Given the description of an element on the screen output the (x, y) to click on. 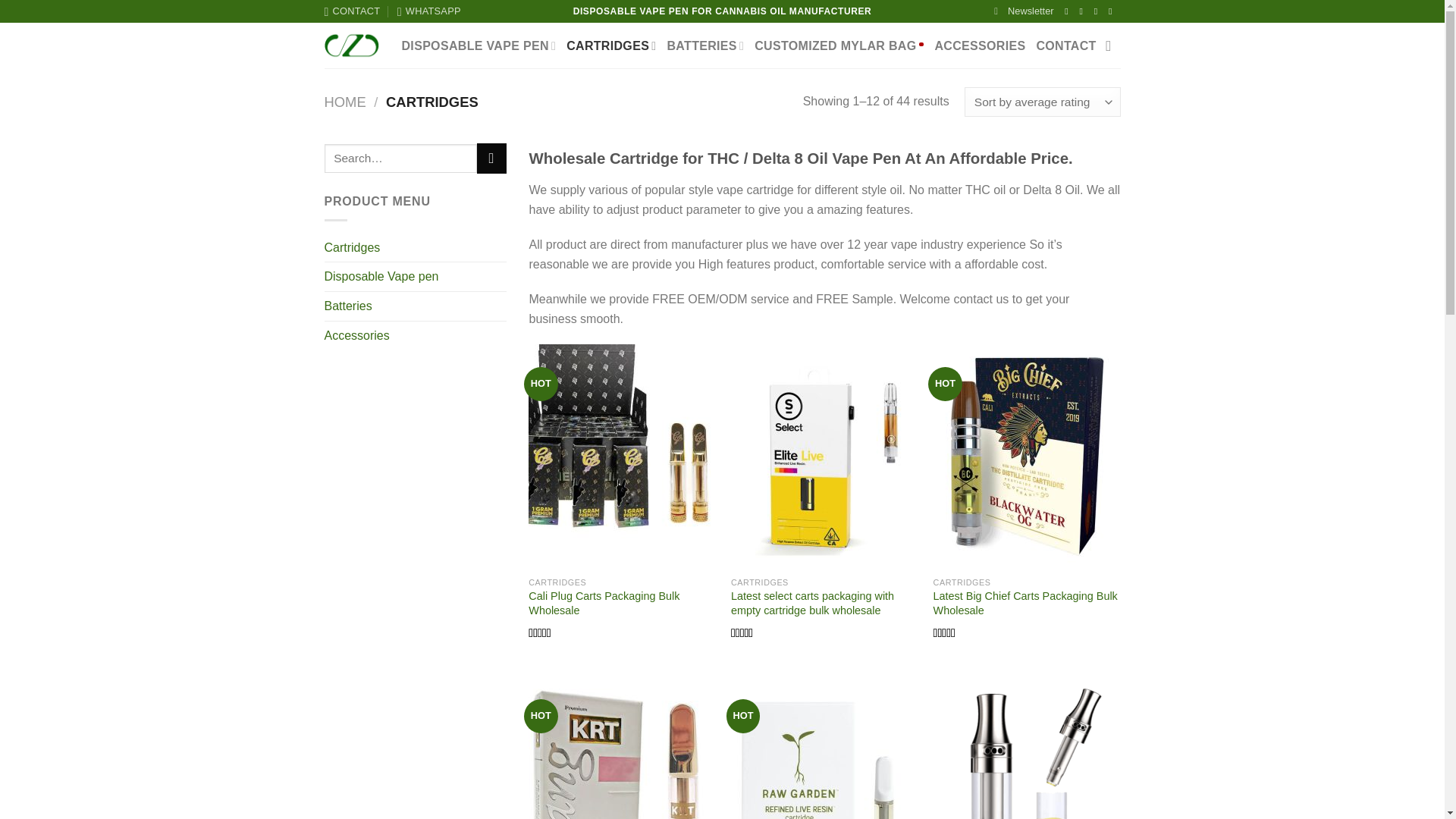
WHATSAPP (429, 11)
Sign up for Newsletter (1023, 11)
DISPOSABLE VAPE PEN (478, 45)
CONTACT (352, 11)
Newsletter (1023, 11)
